Given the description of an element on the screen output the (x, y) to click on. 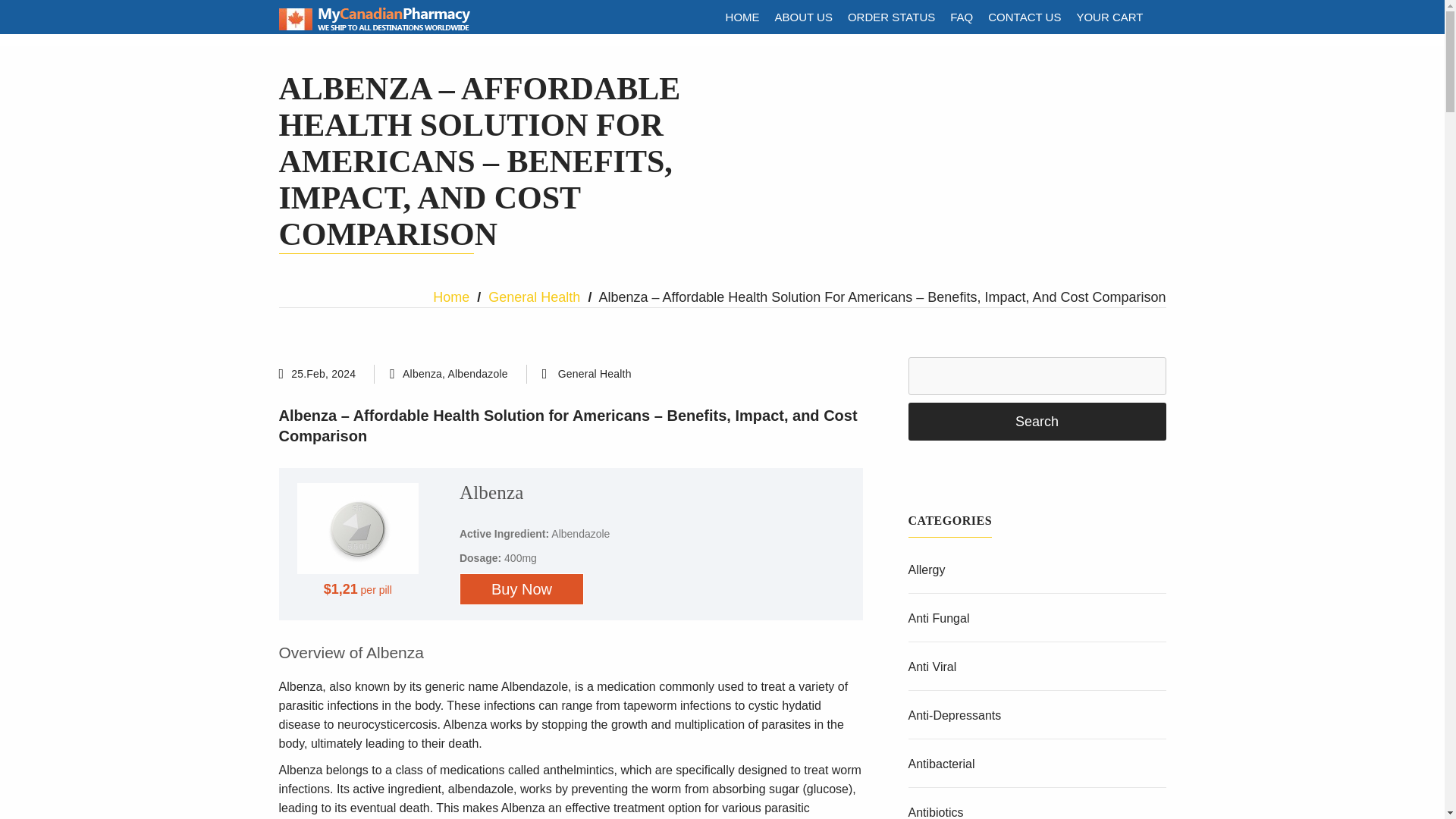
Antibiotics (935, 812)
logo (374, 18)
Anti Viral (932, 666)
Albenza, Albendazole (455, 373)
Buy Now (521, 589)
General Health (594, 374)
General health (594, 374)
HOME (742, 16)
Search (1037, 421)
Albenza, Albendazole (455, 373)
Antibacterial (941, 763)
My Canadian Pharmacy (374, 26)
General Health (533, 296)
CONTACT US (1023, 16)
ORDER STATUS (891, 16)
